Given the description of an element on the screen output the (x, y) to click on. 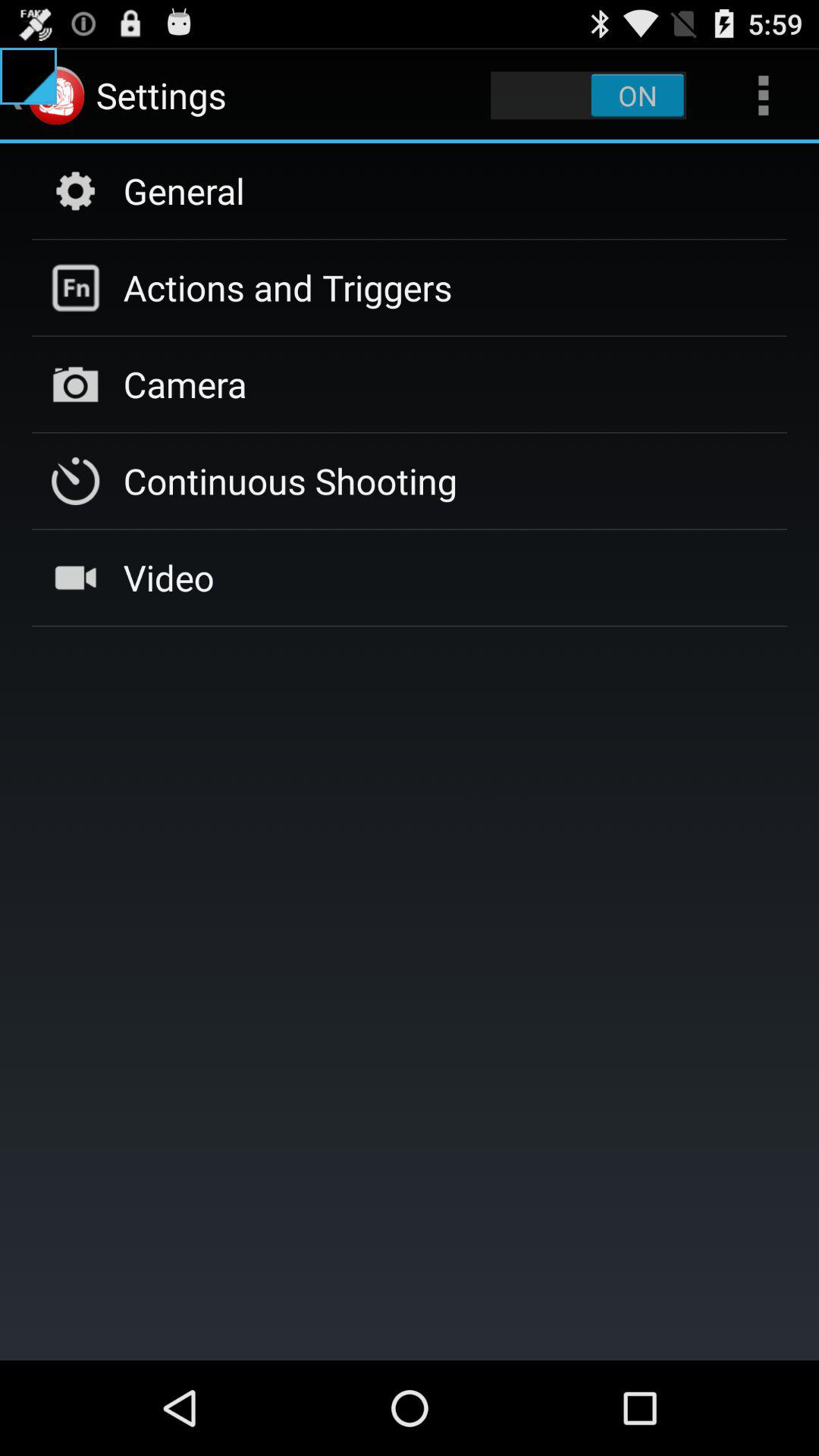
toggle settings (588, 95)
